Given the description of an element on the screen output the (x, y) to click on. 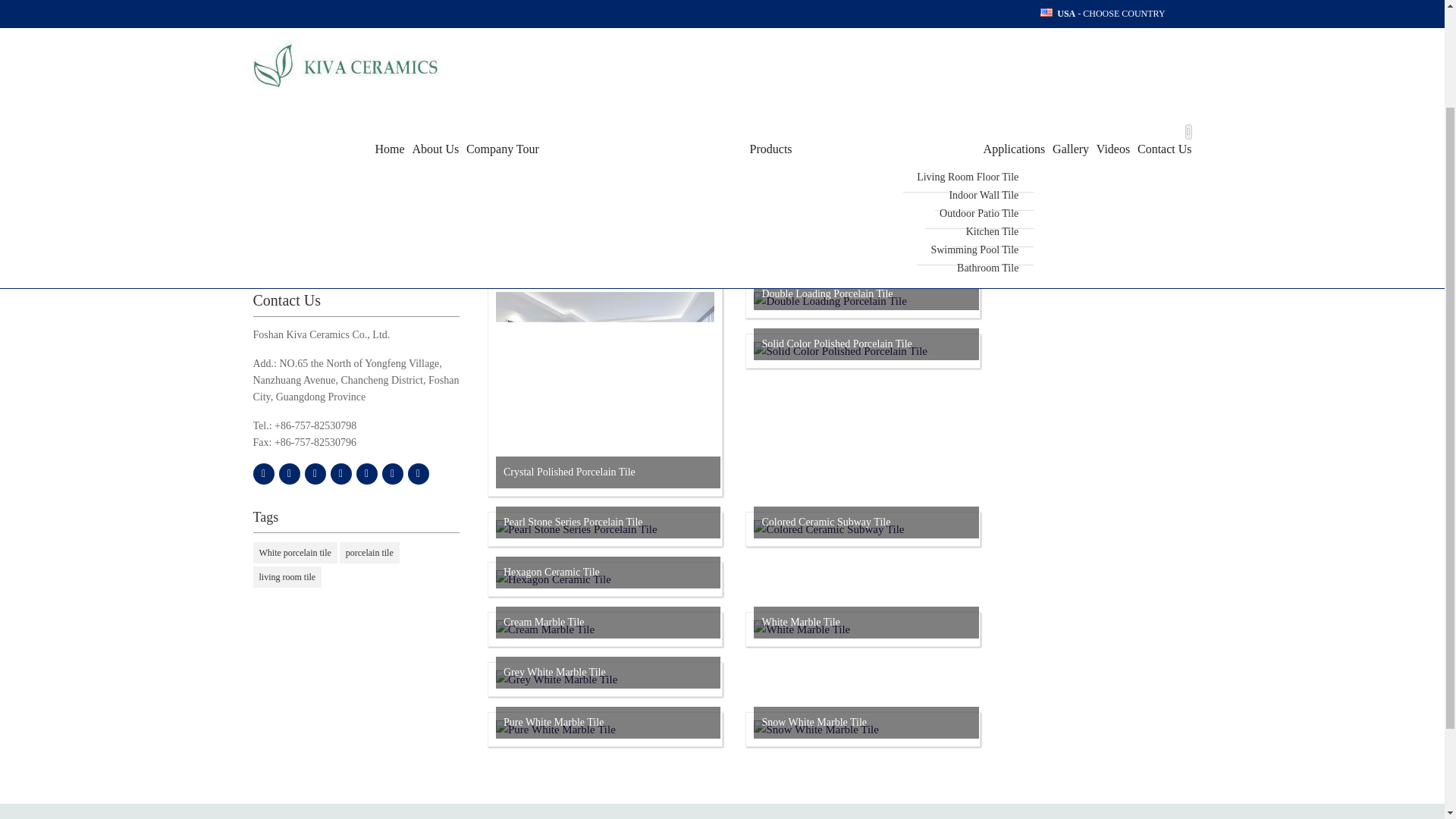
Gmail (366, 473)
Pearl Stone Series Porcelain Tile (577, 529)
White Marble Tile (802, 629)
Hexagon Ceramic Tile (553, 579)
Company Tour (499, 21)
Floor Tiles (356, 74)
Red Porcelain Tile (356, 244)
Double Loading Porcelain Tile (829, 300)
Colored Ceramic Subway Tile (829, 529)
Indoor Wall Tile (983, 68)
